Given the description of an element on the screen output the (x, y) to click on. 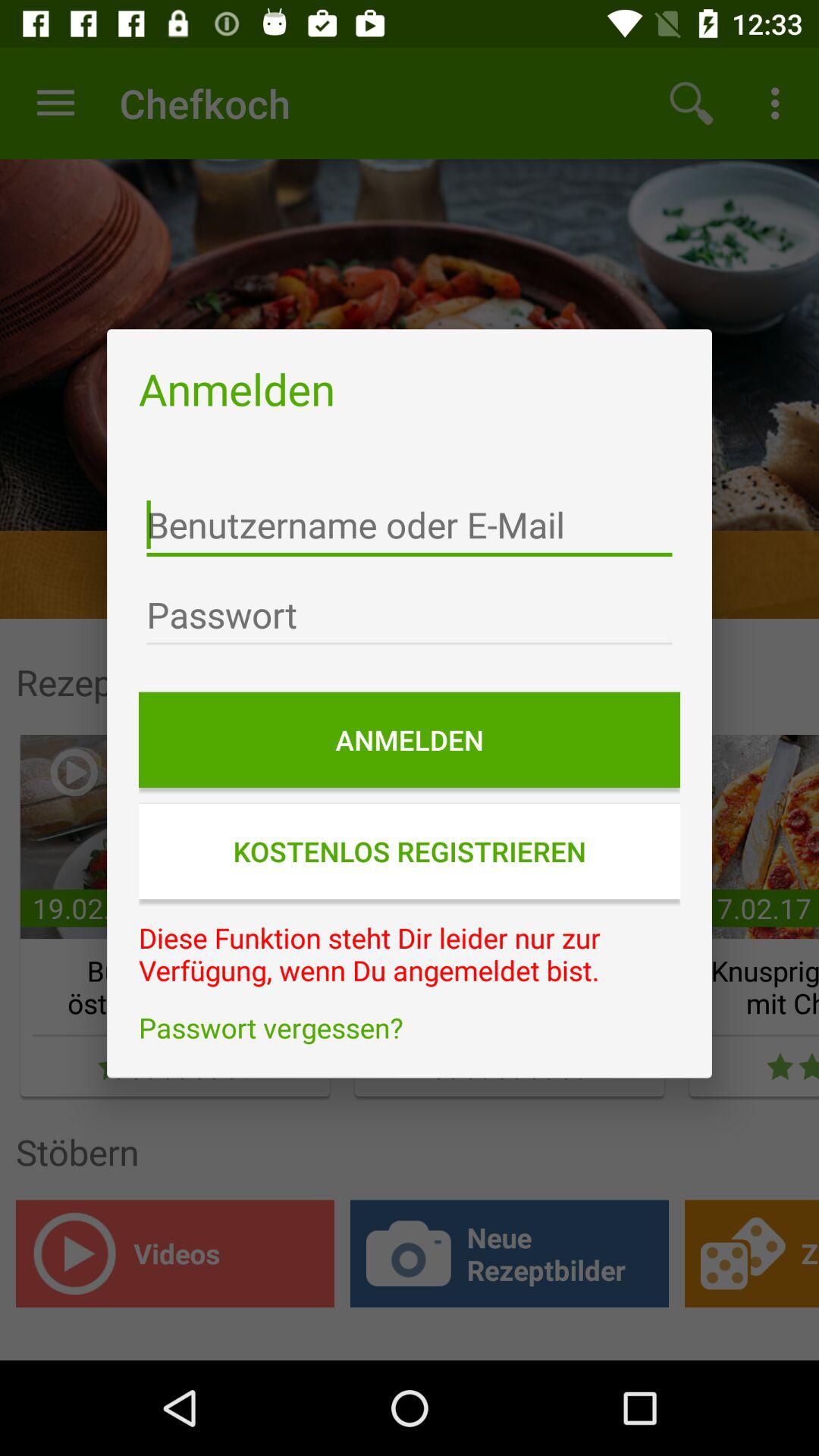
open kostenlos registrieren item (409, 851)
